Given the description of an element on the screen output the (x, y) to click on. 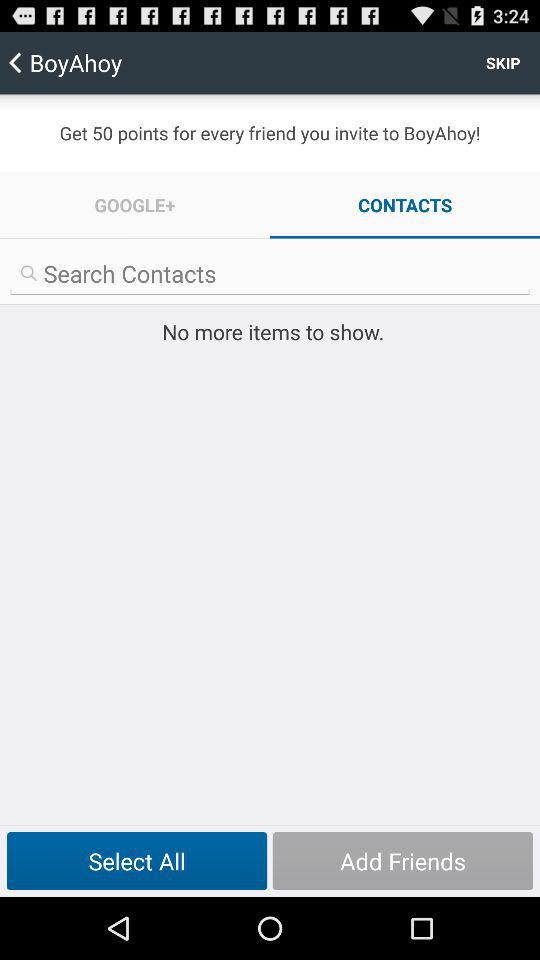
tap the icon to the right of boyahoy item (503, 62)
